Given the description of an element on the screen output the (x, y) to click on. 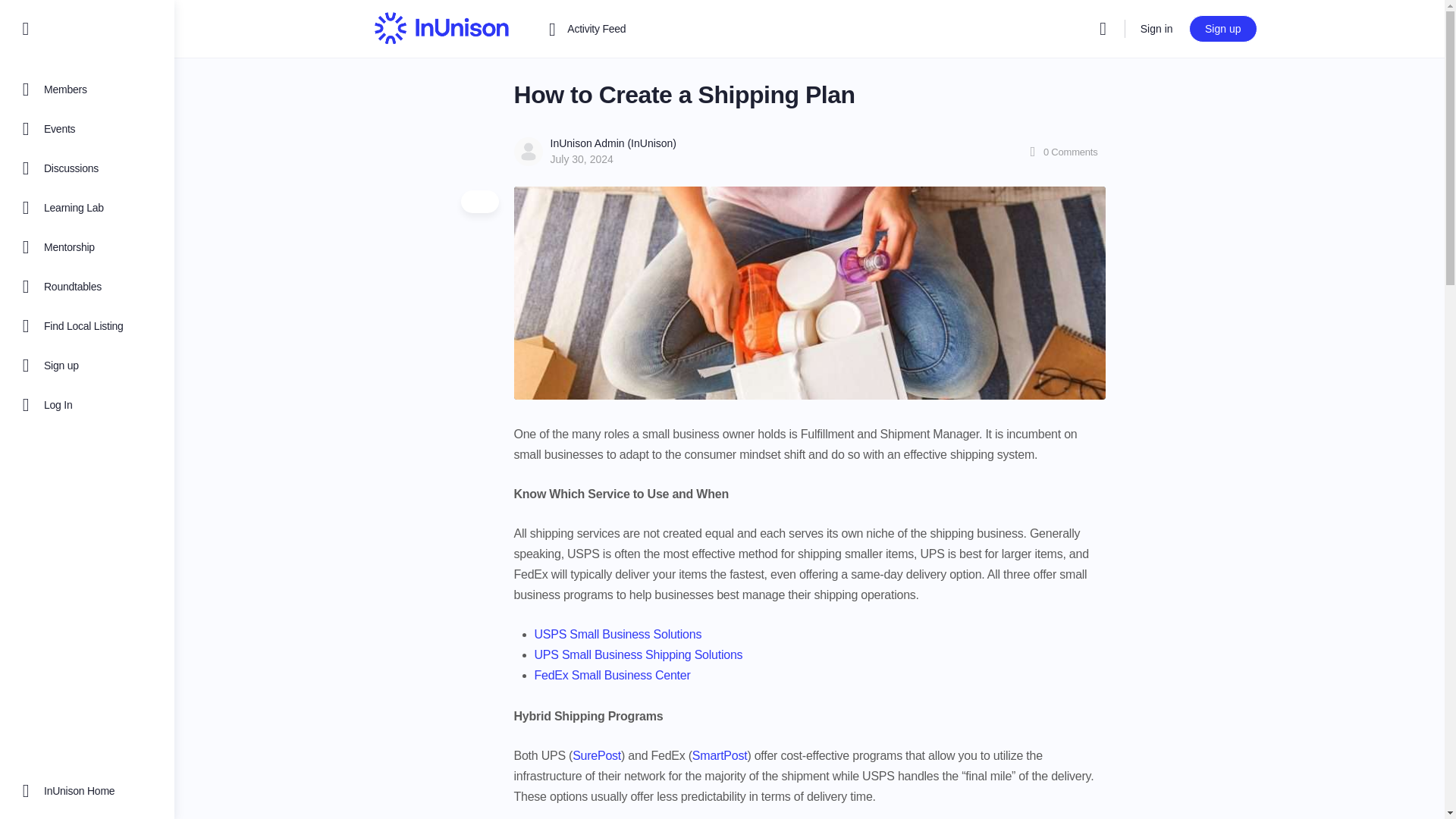
Sign up (87, 364)
Roundtables (87, 286)
Mentorship (87, 246)
Events (87, 128)
Members (87, 88)
Log In (87, 404)
Sign in (1156, 28)
Find Local Listing (87, 325)
Discussions (87, 168)
Sign up (1222, 28)
